Given the description of an element on the screen output the (x, y) to click on. 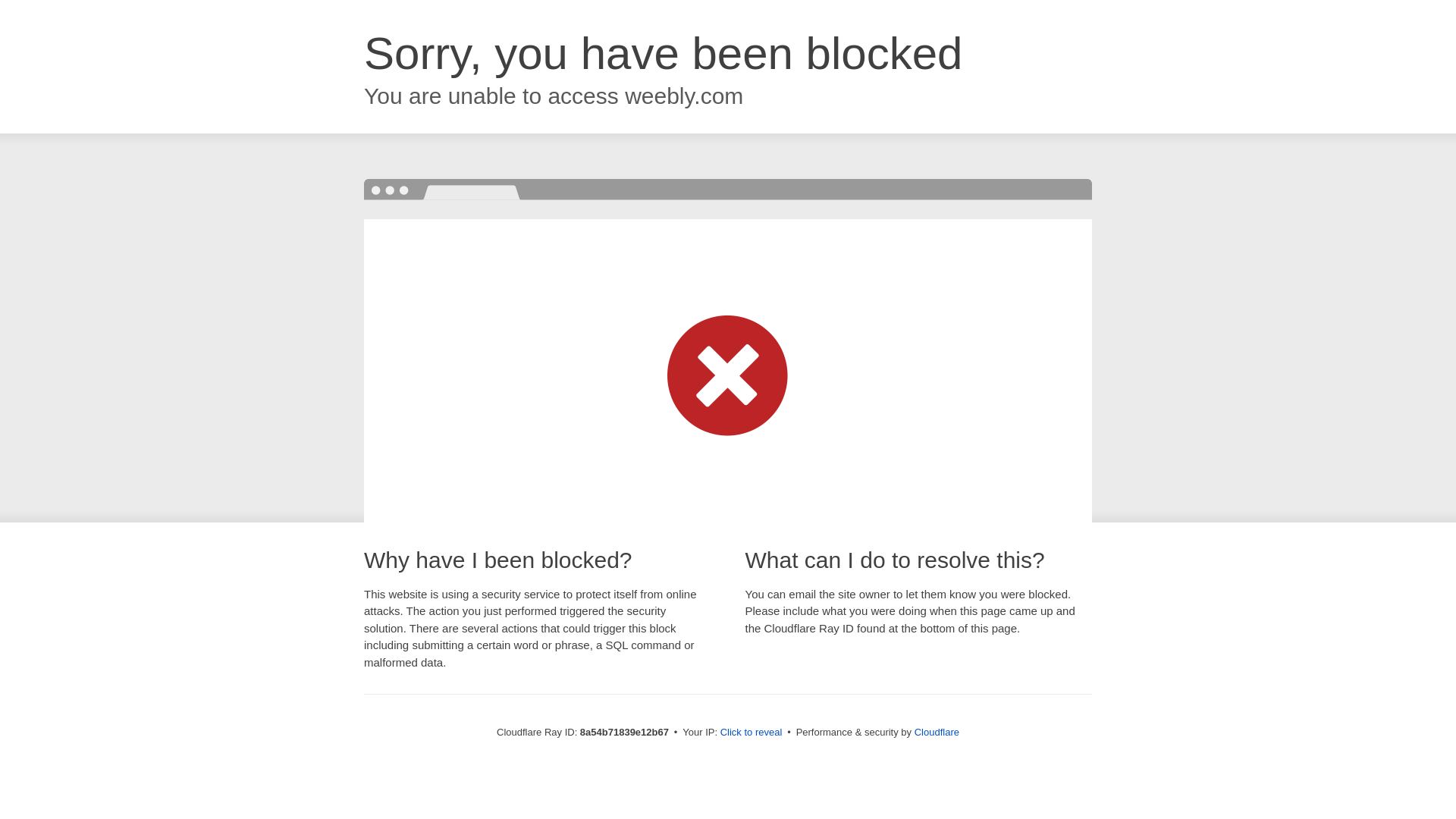
Cloudflare (936, 731)
Click to reveal (751, 732)
